Given the description of an element on the screen output the (x, y) to click on. 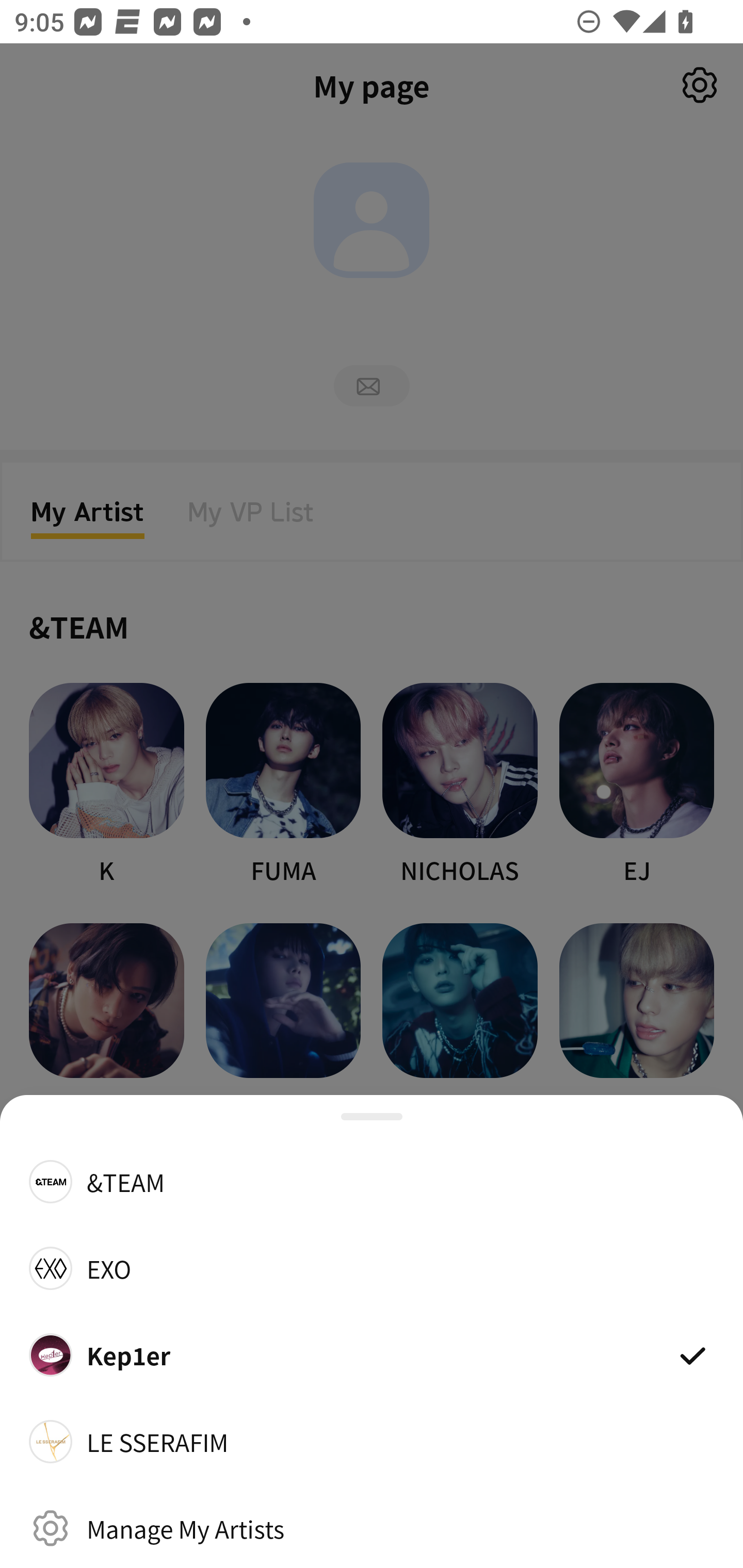
&TEAM (371, 1181)
EXO (371, 1268)
Kep1er (371, 1354)
LE SSERAFIM (371, 1441)
Manage My Artists (371, 1527)
